Given the description of an element on the screen output the (x, y) to click on. 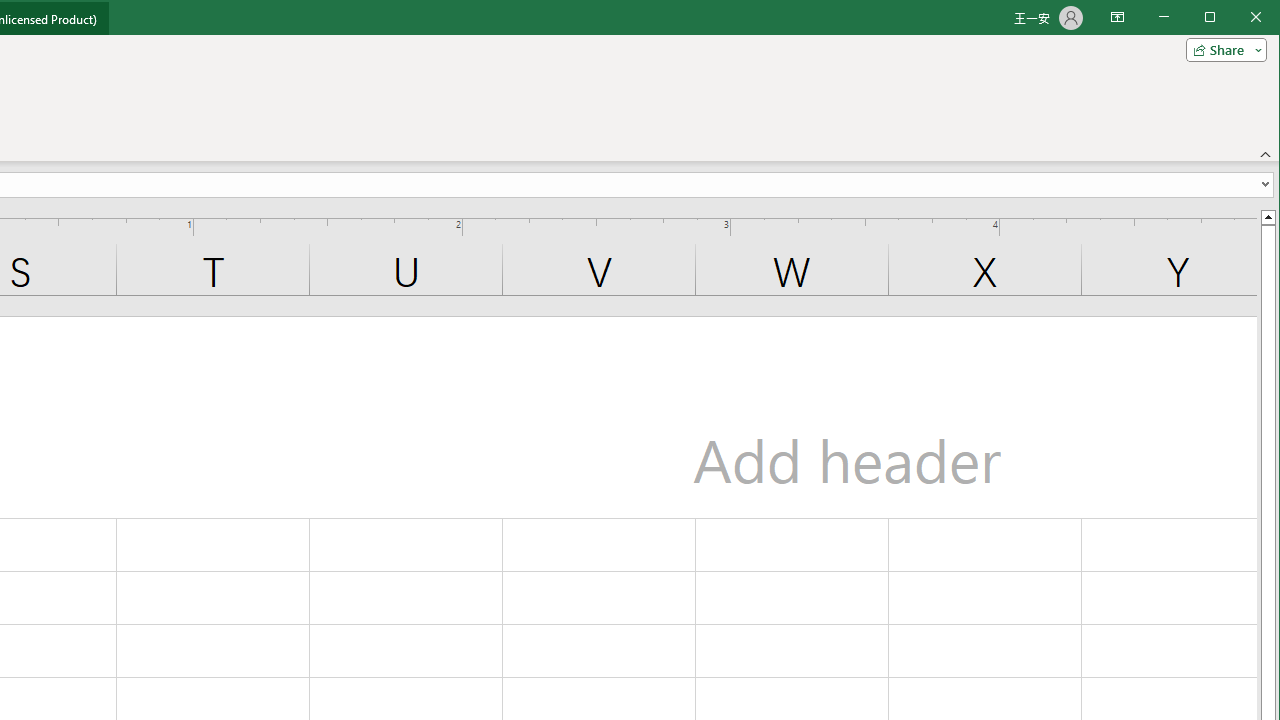
Maximize (1238, 18)
